Given the description of an element on the screen output the (x, y) to click on. 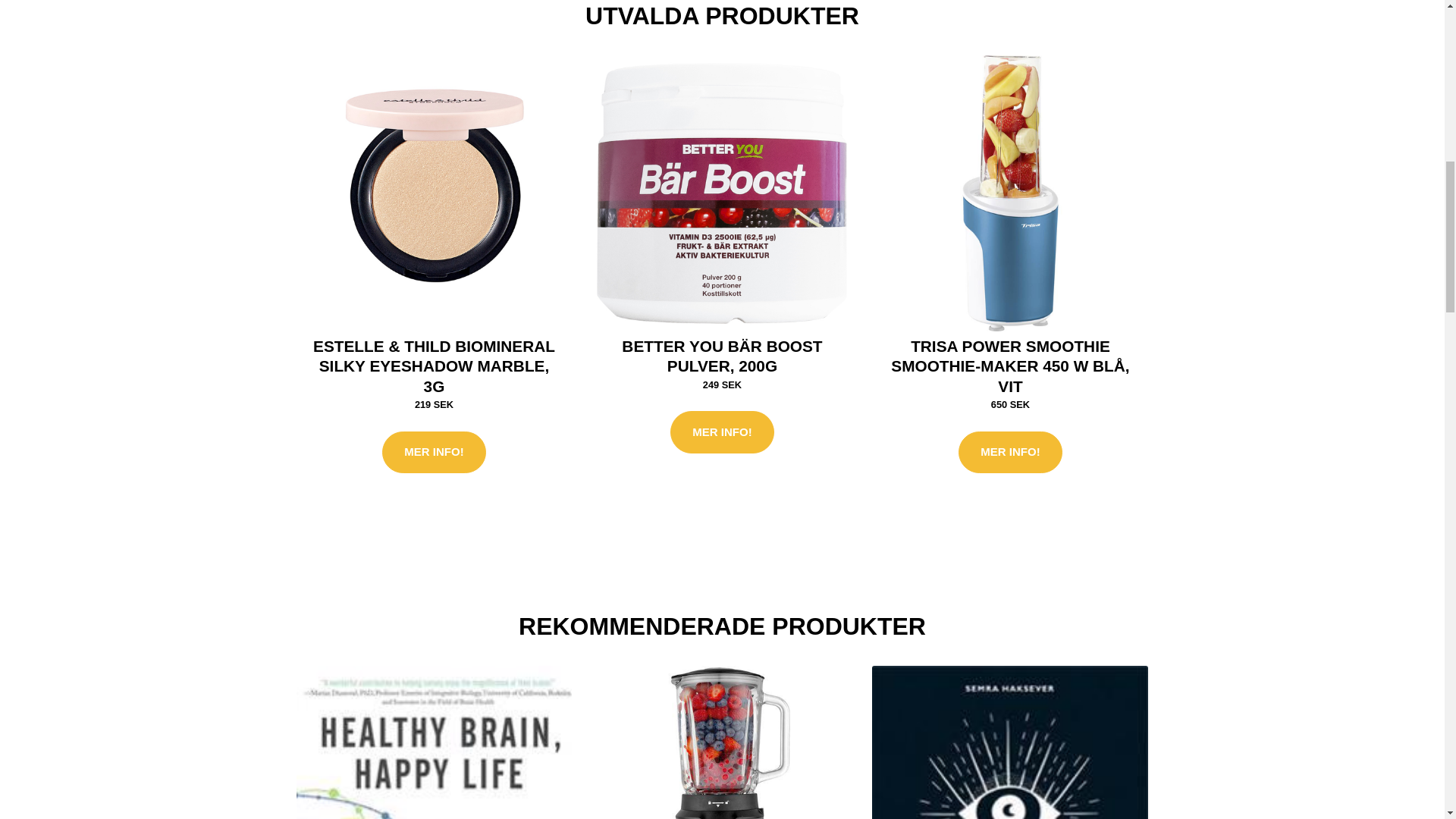
MER INFO! (1009, 452)
MER INFO! (721, 432)
MER INFO! (432, 452)
